Given the description of an element on the screen output the (x, y) to click on. 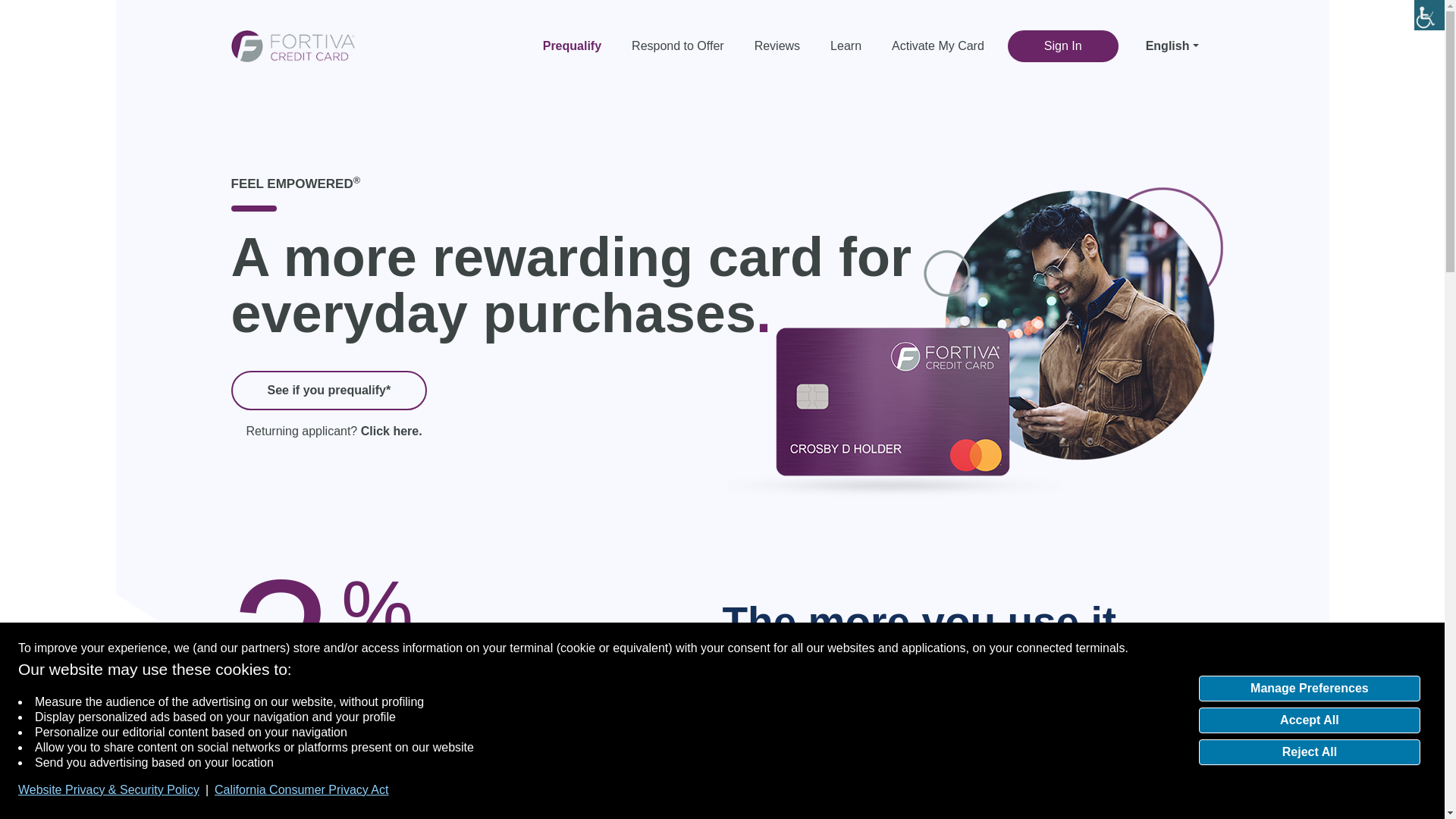
Learn (845, 46)
Manage Preferences (1309, 688)
Activate My Card (937, 46)
Reviews (777, 46)
Prequalify (579, 46)
Respond to Offer (677, 46)
Reject All (1309, 751)
MyFortiva (291, 44)
Accept All (1309, 720)
